Given the description of an element on the screen output the (x, y) to click on. 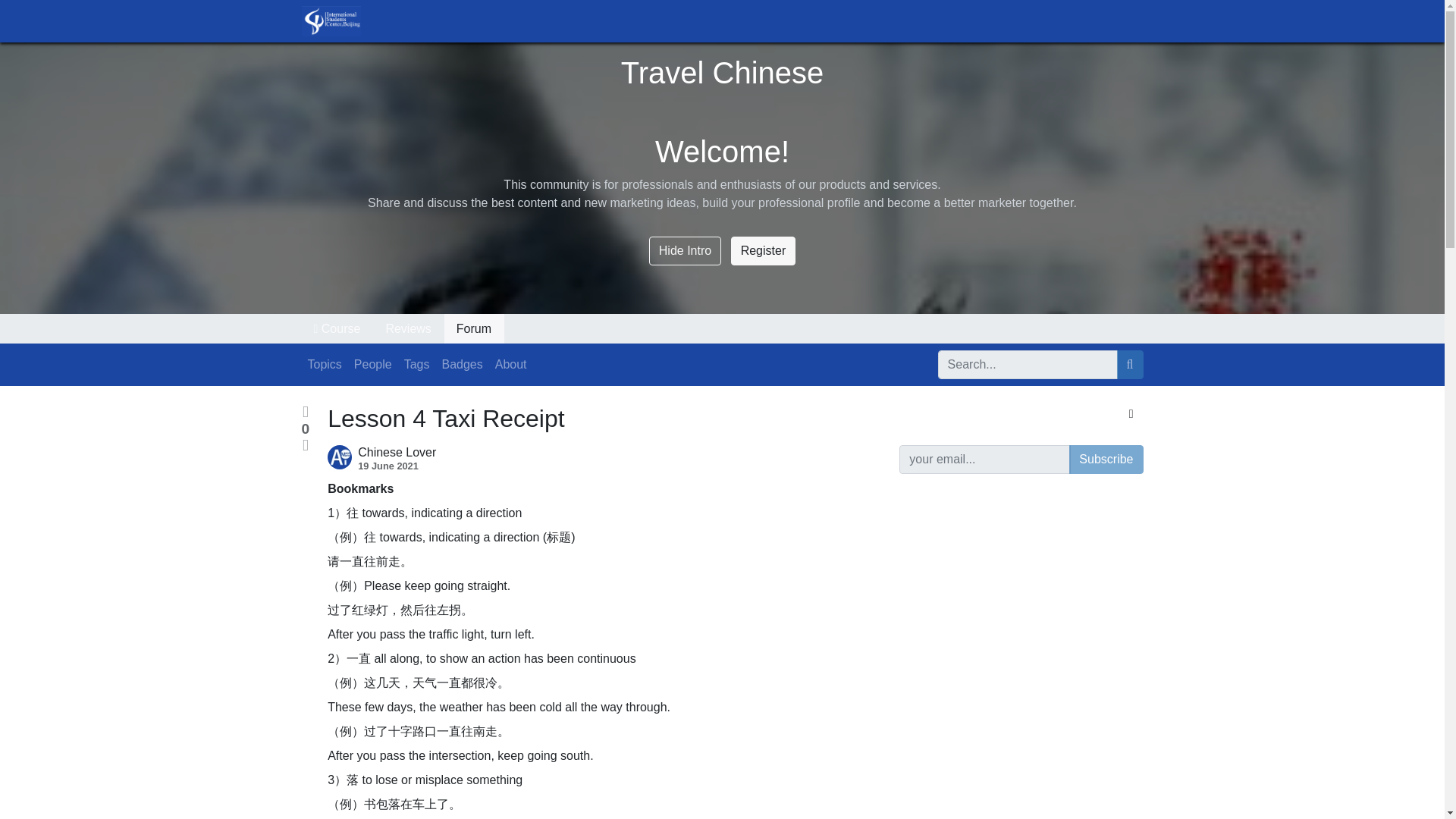
Badges (461, 364)
About (510, 364)
Topics (324, 364)
Register (763, 250)
Tags (416, 364)
Reviews (408, 328)
Search (1129, 364)
Hide Intro (684, 250)
Learn Chinese ISCBJ.COM (331, 20)
Course (337, 328)
